Given the description of an element on the screen output the (x, y) to click on. 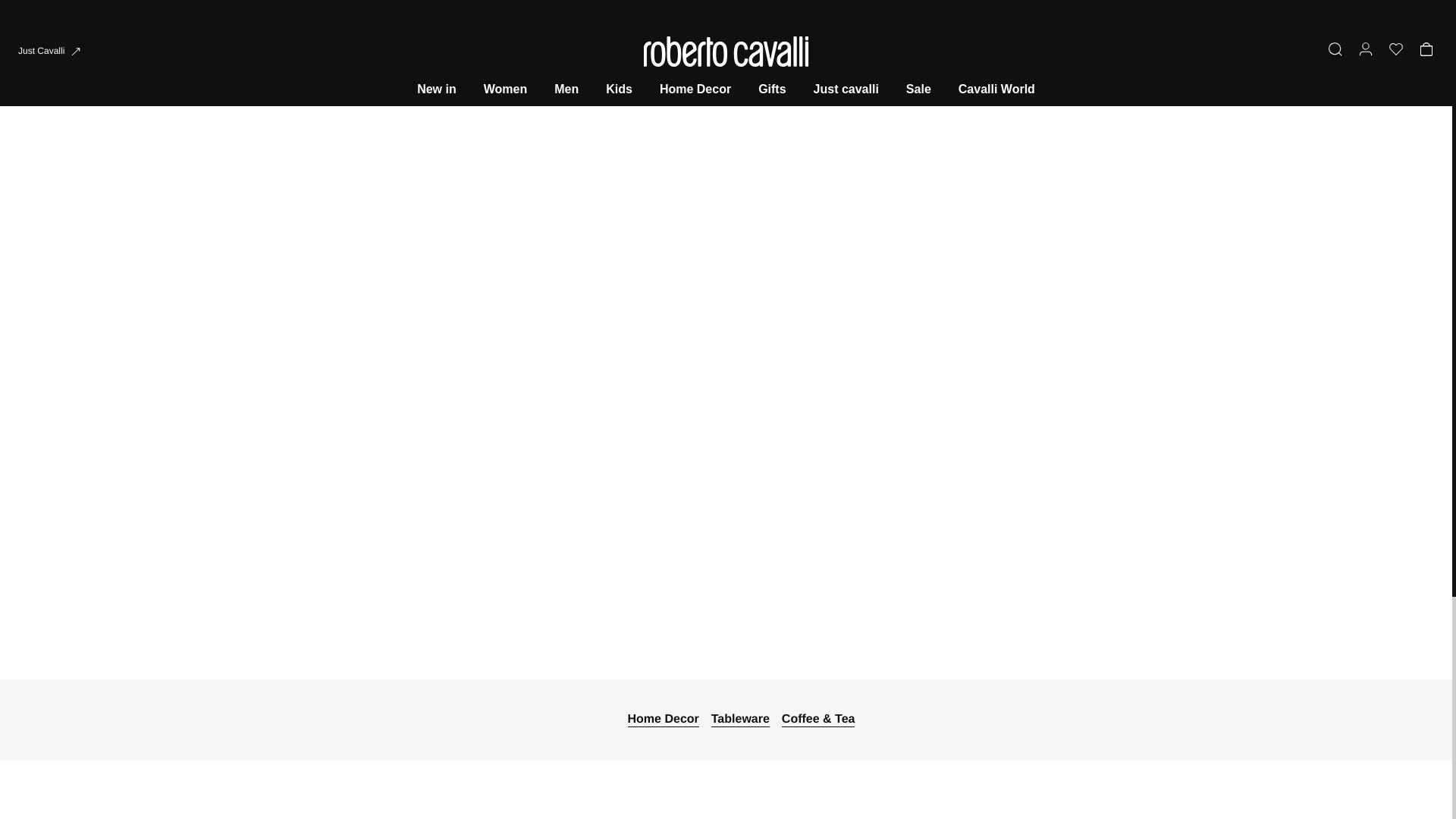
Just Cavalli (49, 51)
Women (505, 89)
Men (566, 89)
Home Decor (694, 89)
Just cavalli (846, 89)
New in (49, 51)
Kids (436, 89)
Cavalli World (618, 89)
Roberto Cavalli (996, 89)
